Given the description of an element on the screen output the (x, y) to click on. 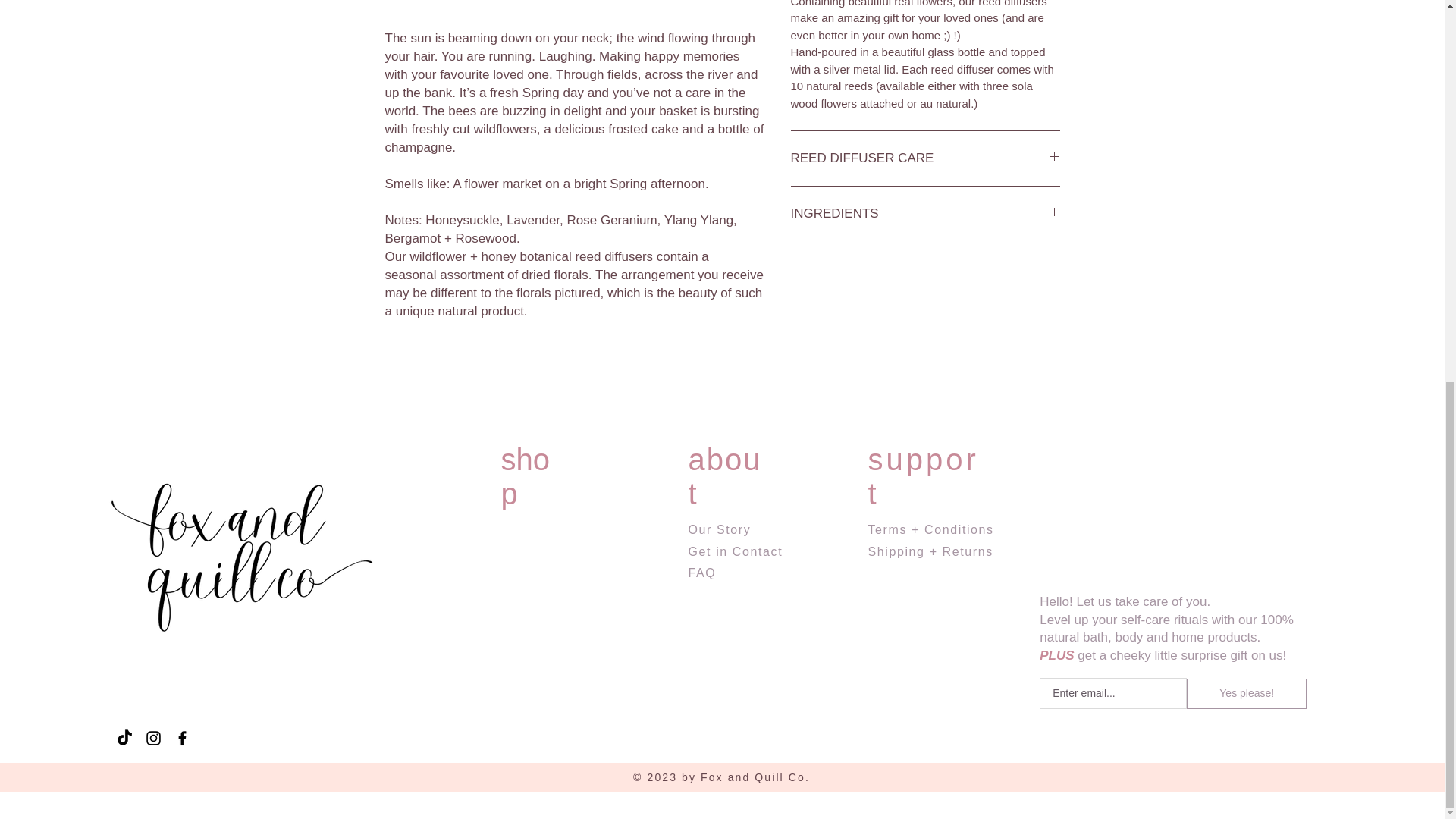
INGREDIENTS (924, 213)
REED DIFFUSER CARE (924, 158)
Get in Contact (735, 551)
FAQ (702, 572)
Our Story (719, 529)
Sage Green Elegant Minimalist Vintage Ar (237, 548)
